Given the description of an element on the screen output the (x, y) to click on. 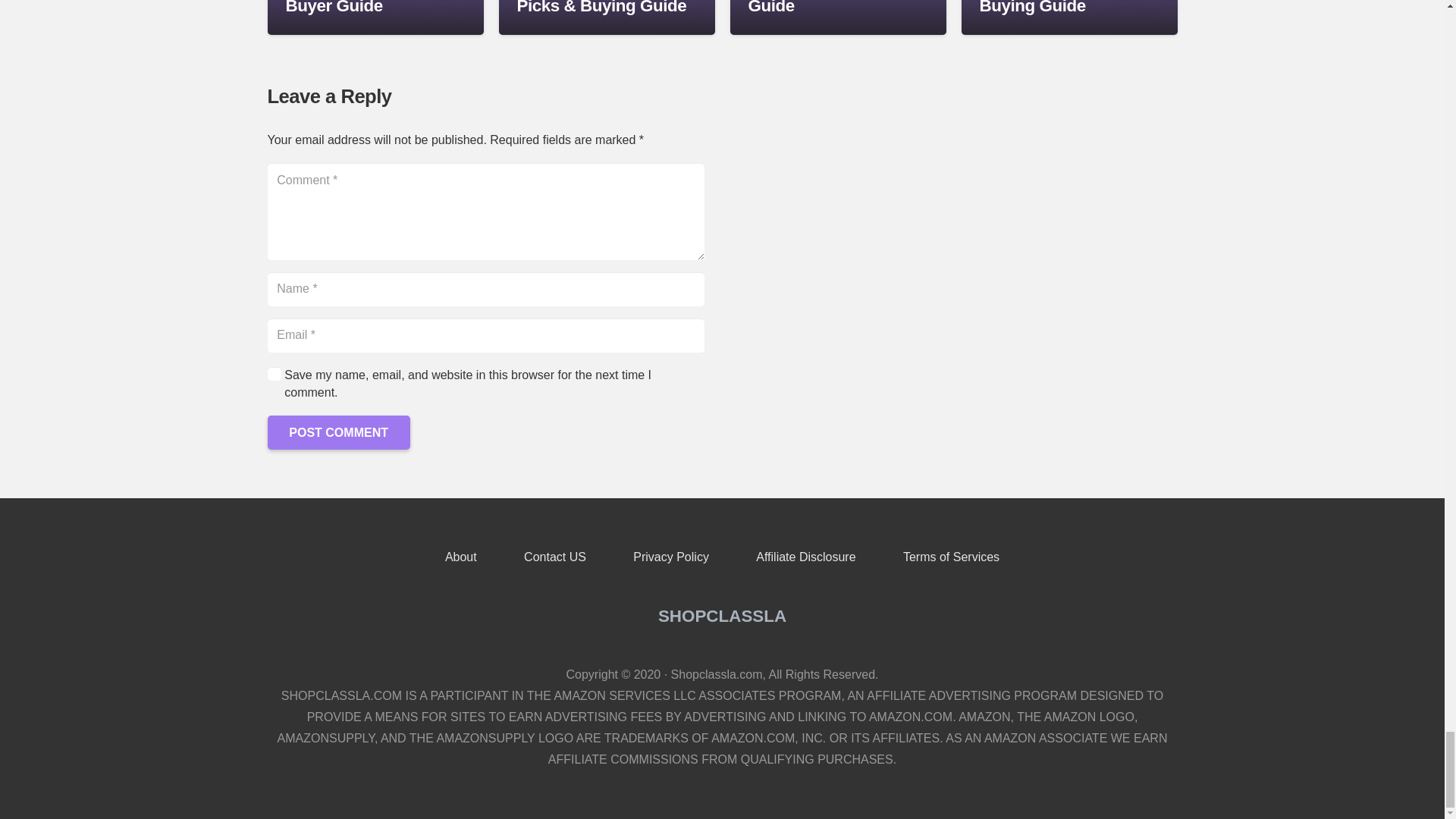
1 (273, 373)
